Given the description of an element on the screen output the (x, y) to click on. 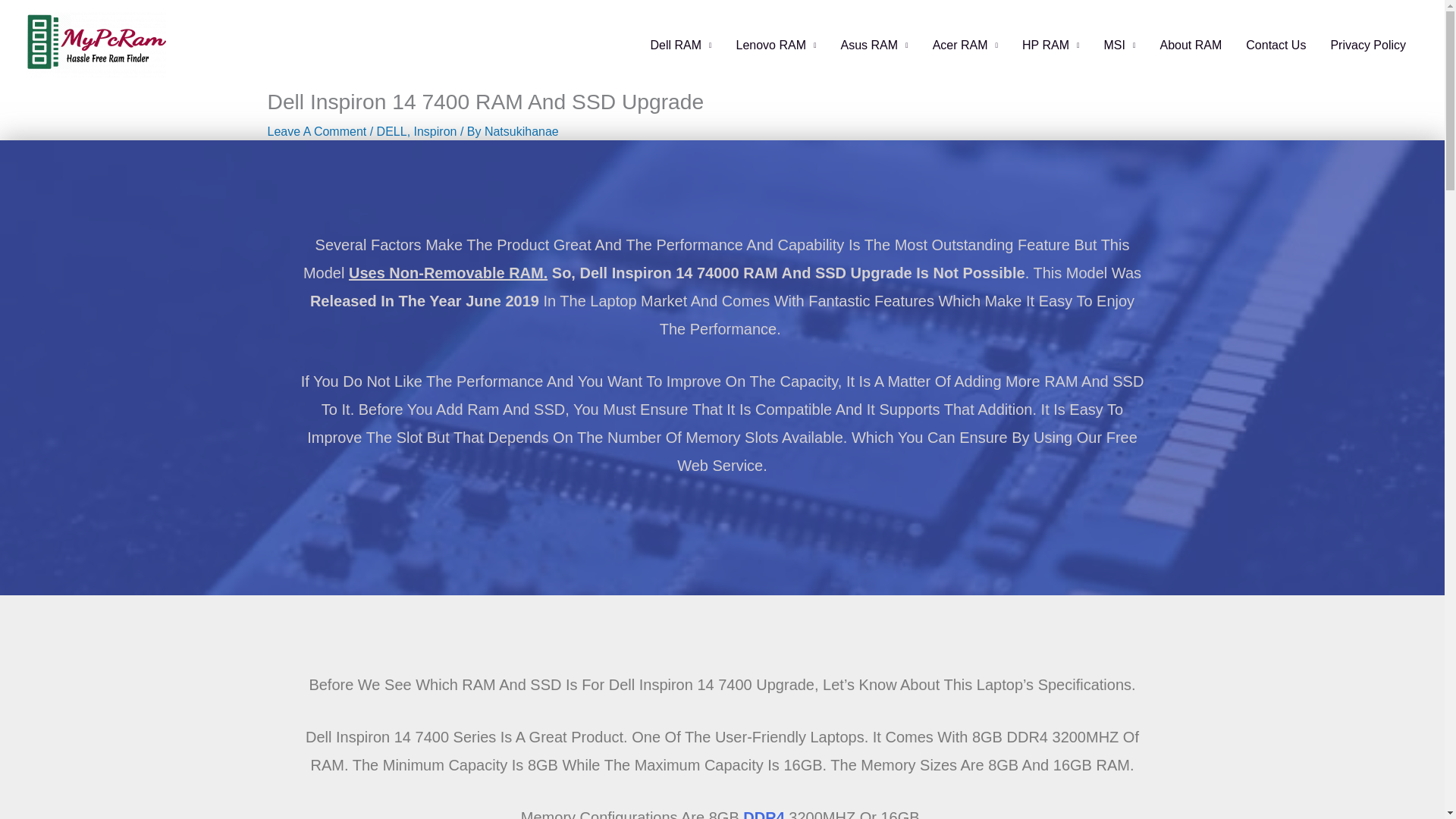
HP RAM (1050, 44)
MSI (1120, 44)
About RAM (1190, 44)
Contact Us (1275, 44)
Privacy Policy (1367, 44)
Dell RAM (680, 44)
Acer RAM (965, 44)
View all posts by Natsukihanae (521, 131)
Asus RAM (874, 44)
Lenovo RAM (775, 44)
